Given the description of an element on the screen output the (x, y) to click on. 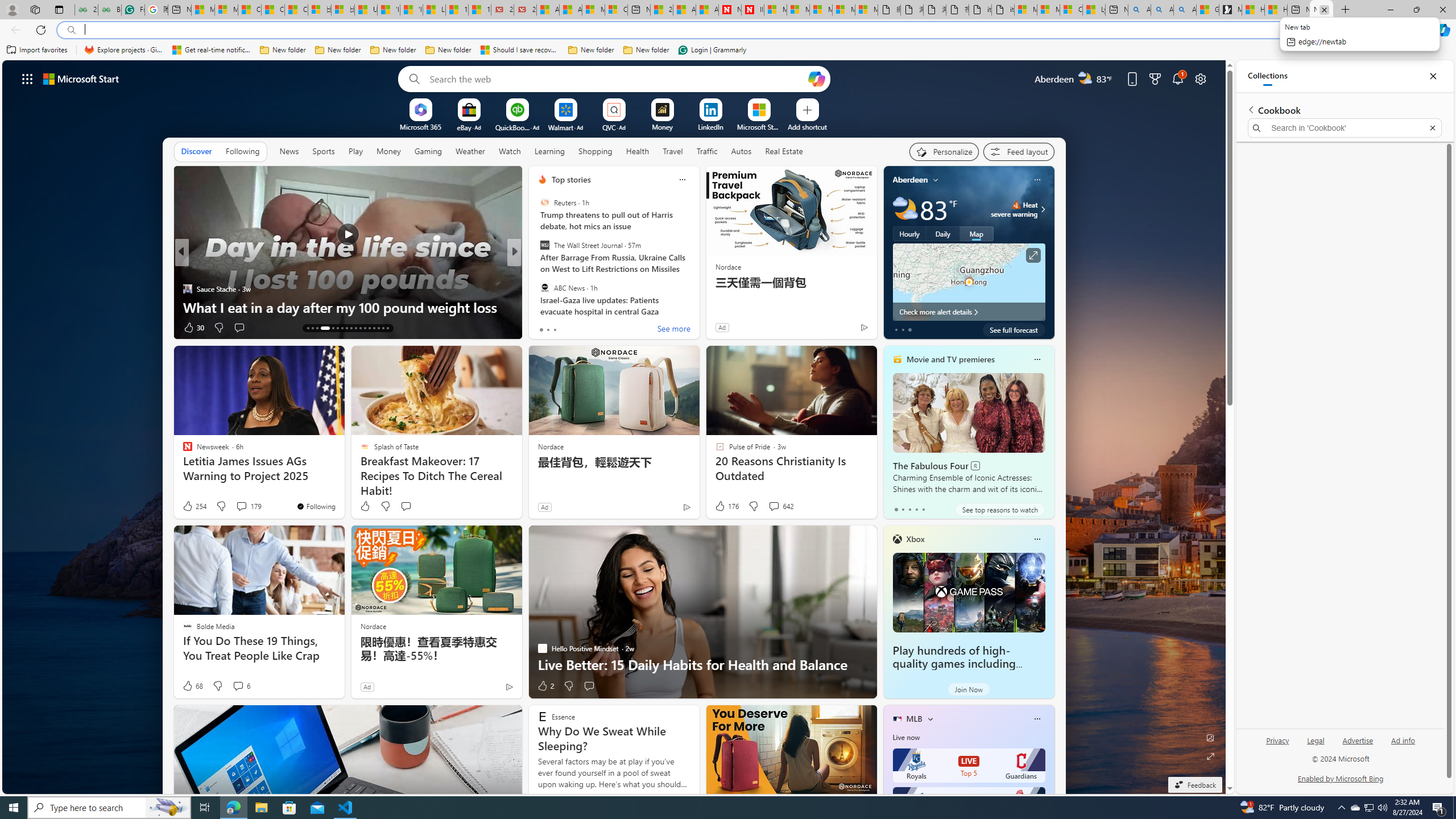
Heat - Severe Heat severe warning (1014, 208)
Newsweek - News, Analysis, Politics, Business, Technology (729, 9)
View comments 10 Comment (594, 327)
39 Like (543, 327)
View comments 642 Comment (779, 505)
Travel (672, 151)
AutomationID: tab-13 (307, 328)
Gaming (428, 151)
Traffic (706, 151)
